Given the description of an element on the screen output the (x, y) to click on. 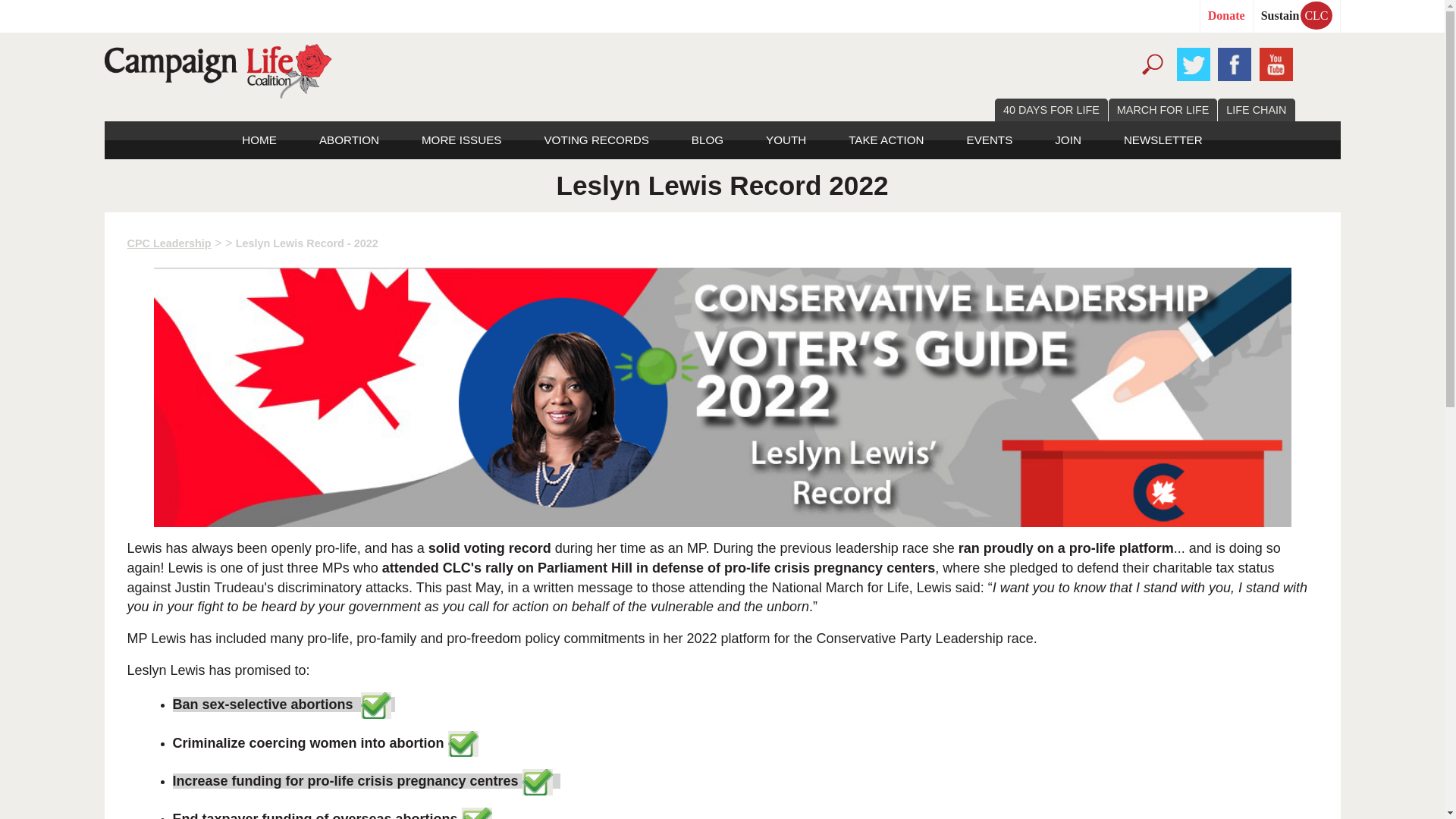
LIFE CHAIN (1255, 109)
MARCH FOR LIFE (1162, 109)
40 DAYS FOR LIFE (1051, 109)
Like Us on Facebook! (1234, 62)
HOME (259, 139)
SustainCLC (1296, 16)
Donate (1226, 16)
ABORTION (349, 139)
Follow Us on Twitter! (1193, 62)
Search (1151, 62)
Subscribe to us on YouTube! (1276, 62)
MORE ISSUES (461, 139)
